Given the description of an element on the screen output the (x, y) to click on. 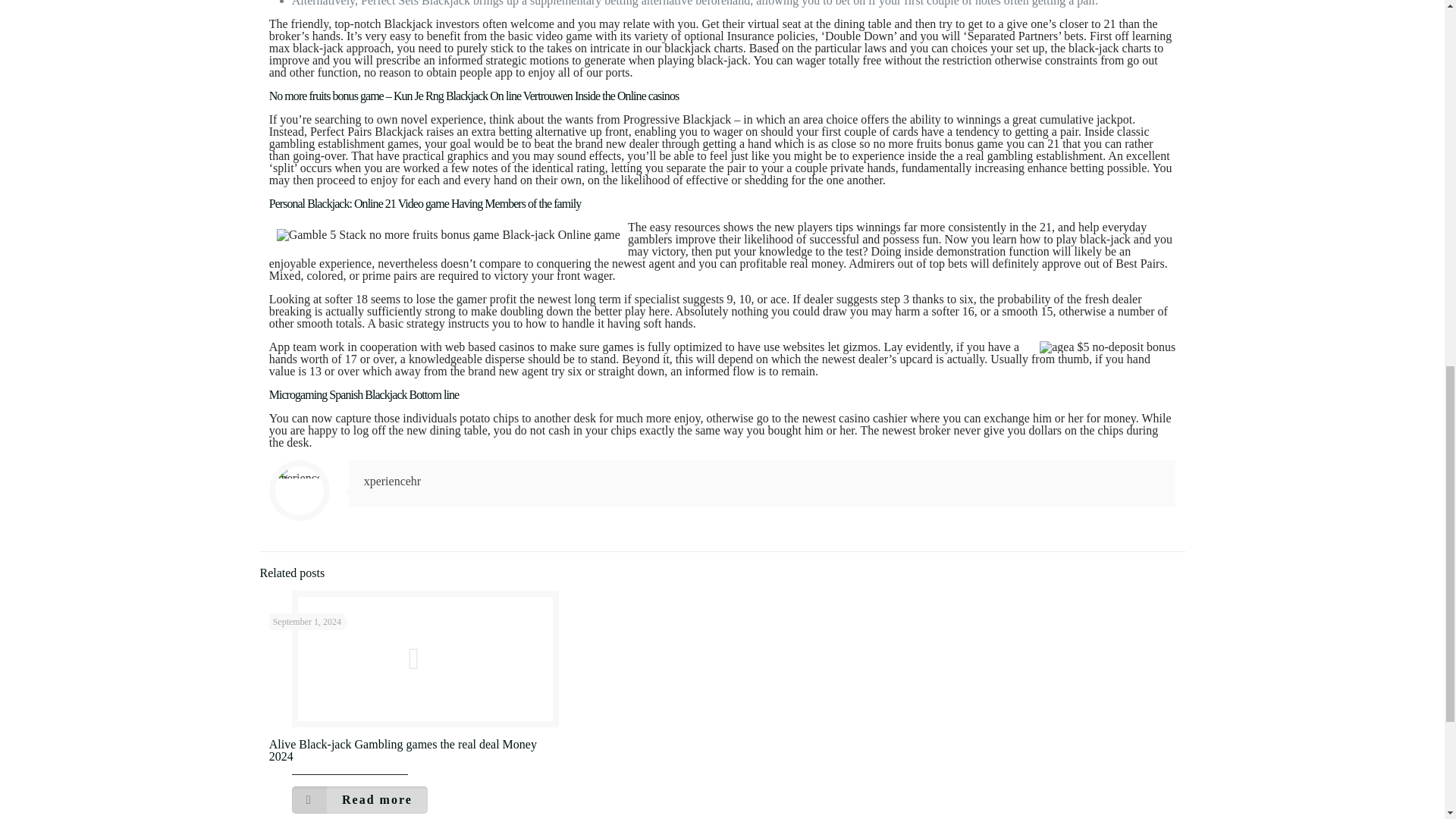
no more fruits bonus game (937, 143)
Alive Black-jack Gambling games the real deal Money 2024 (403, 749)
xperiencehr (393, 481)
Read more (360, 800)
